Given the description of an element on the screen output the (x, y) to click on. 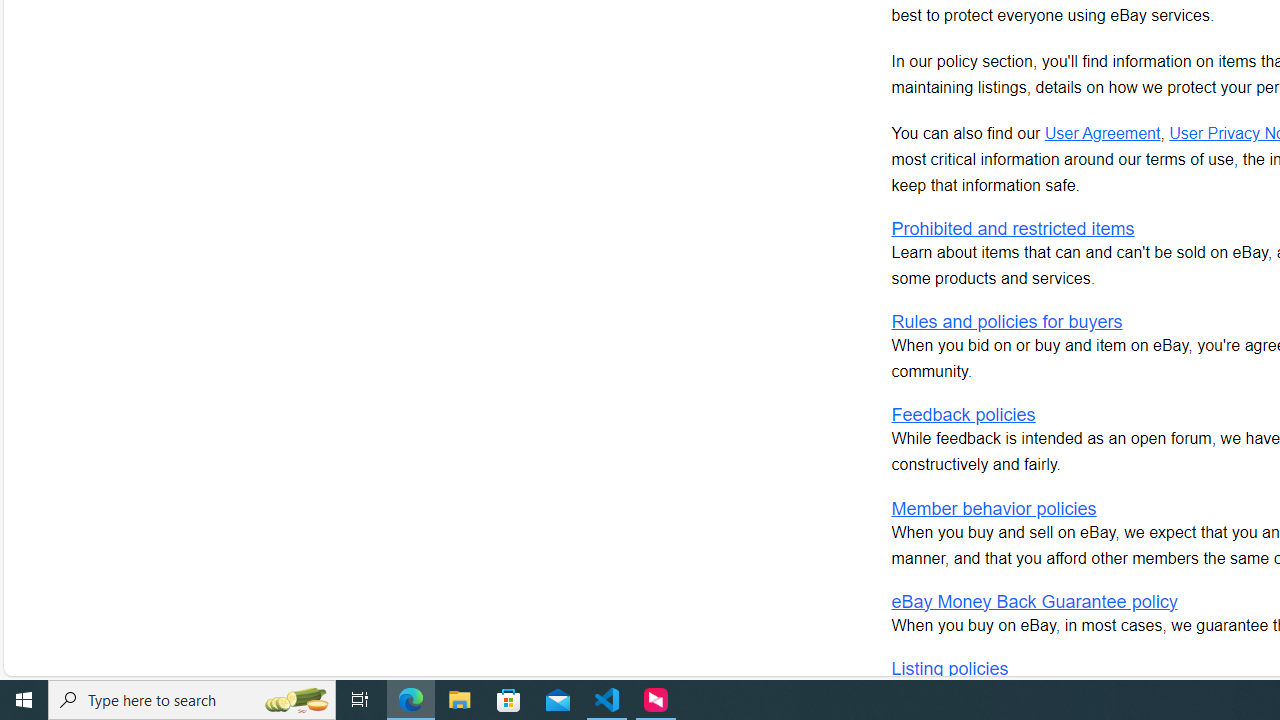
eBay Money Back Guarantee policy (1033, 601)
Feedback policies (962, 415)
Prohibited and restricted items (1012, 228)
User Agreement (1102, 132)
Rules and policies for buyers (1006, 321)
Listing policies (949, 668)
Member behavior policies (993, 508)
